Given the description of an element on the screen output the (x, y) to click on. 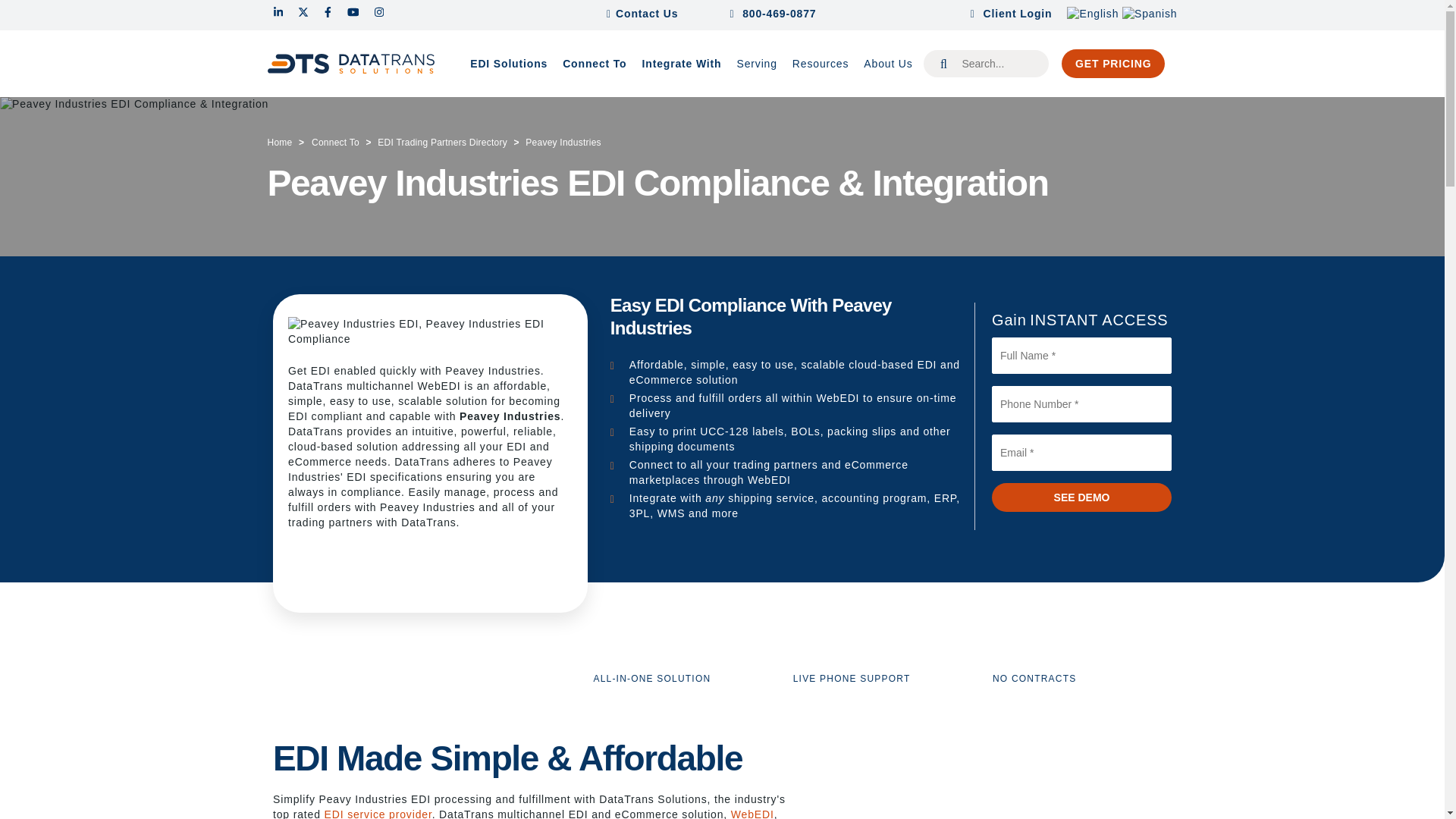
English (1092, 13)
Spanish (1149, 13)
Contact Us (648, 14)
Integrate With (681, 63)
see demo (1081, 497)
800-469-0877 (786, 14)
Home - DataTrans Solutions (349, 63)
Client Login (1011, 14)
Connect To (593, 63)
EDI Solutions (508, 63)
